Given the description of an element on the screen output the (x, y) to click on. 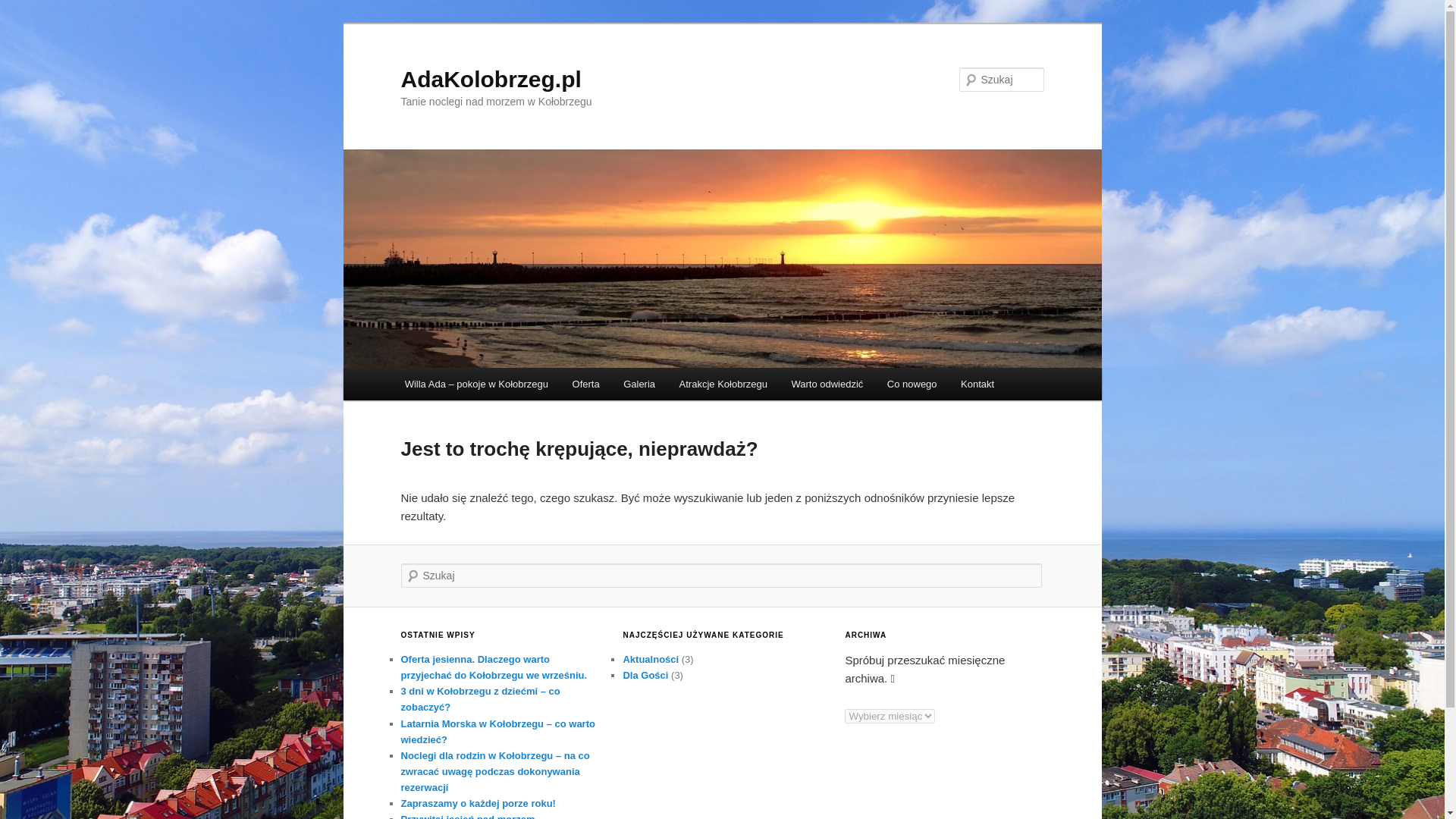
AdaKolobrzeg.pl (490, 78)
Kontakt (977, 383)
Co nowego (912, 383)
Oferta (585, 383)
Szukaj (23, 8)
Galeria (638, 383)
